Given the description of an element on the screen output the (x, y) to click on. 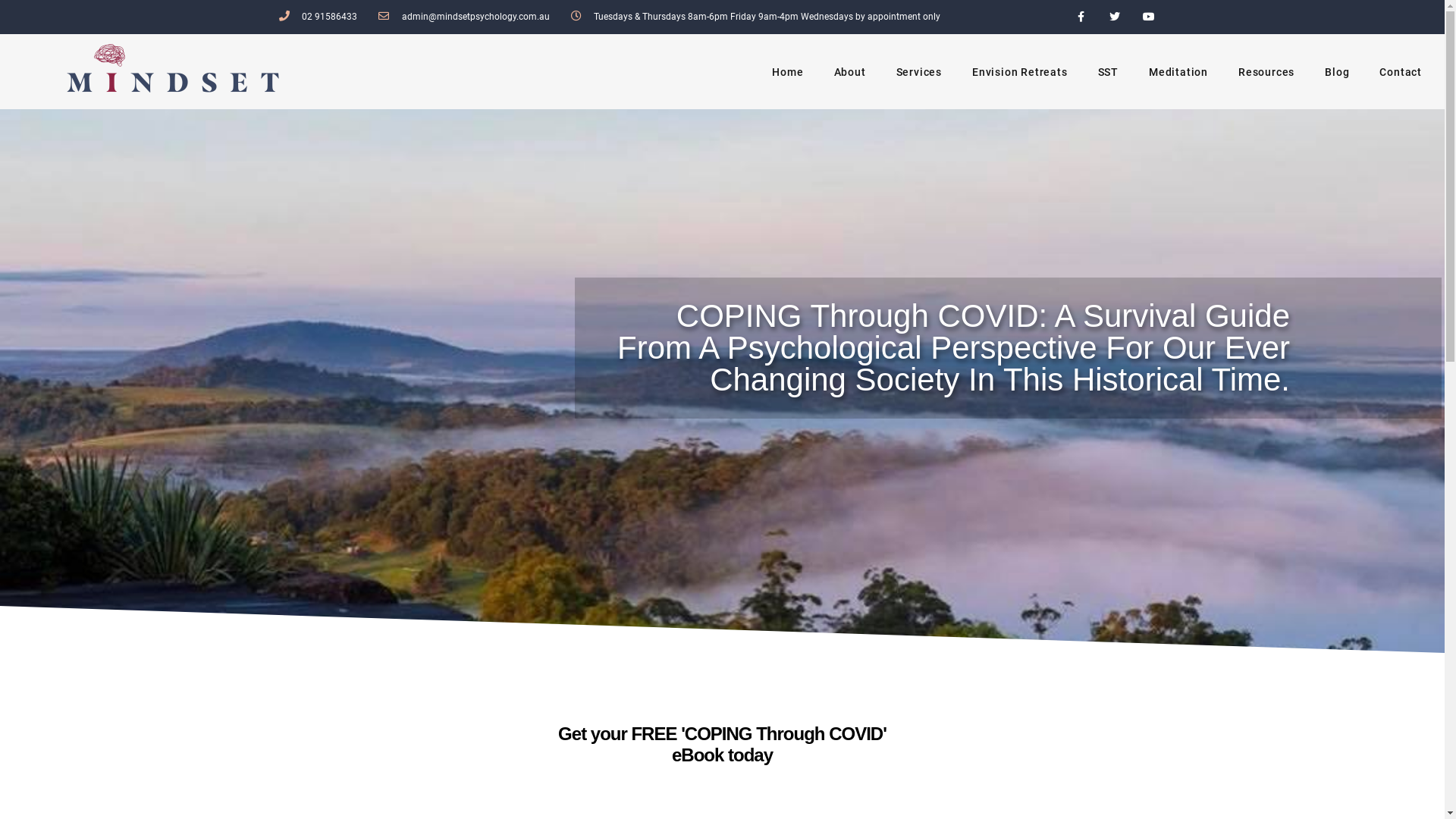
Contact Element type: text (1400, 71)
Meditation Element type: text (1178, 71)
About Element type: text (850, 71)
Blog Element type: text (1336, 71)
admin@mindsetpsychology.com.au Element type: text (463, 17)
SST Element type: text (1107, 71)
Resources Element type: text (1266, 71)
Home Element type: text (787, 71)
Envision Retreats Element type: text (1019, 71)
02 91586433 Element type: text (318, 17)
Services Element type: text (919, 71)
